Given the description of an element on the screen output the (x, y) to click on. 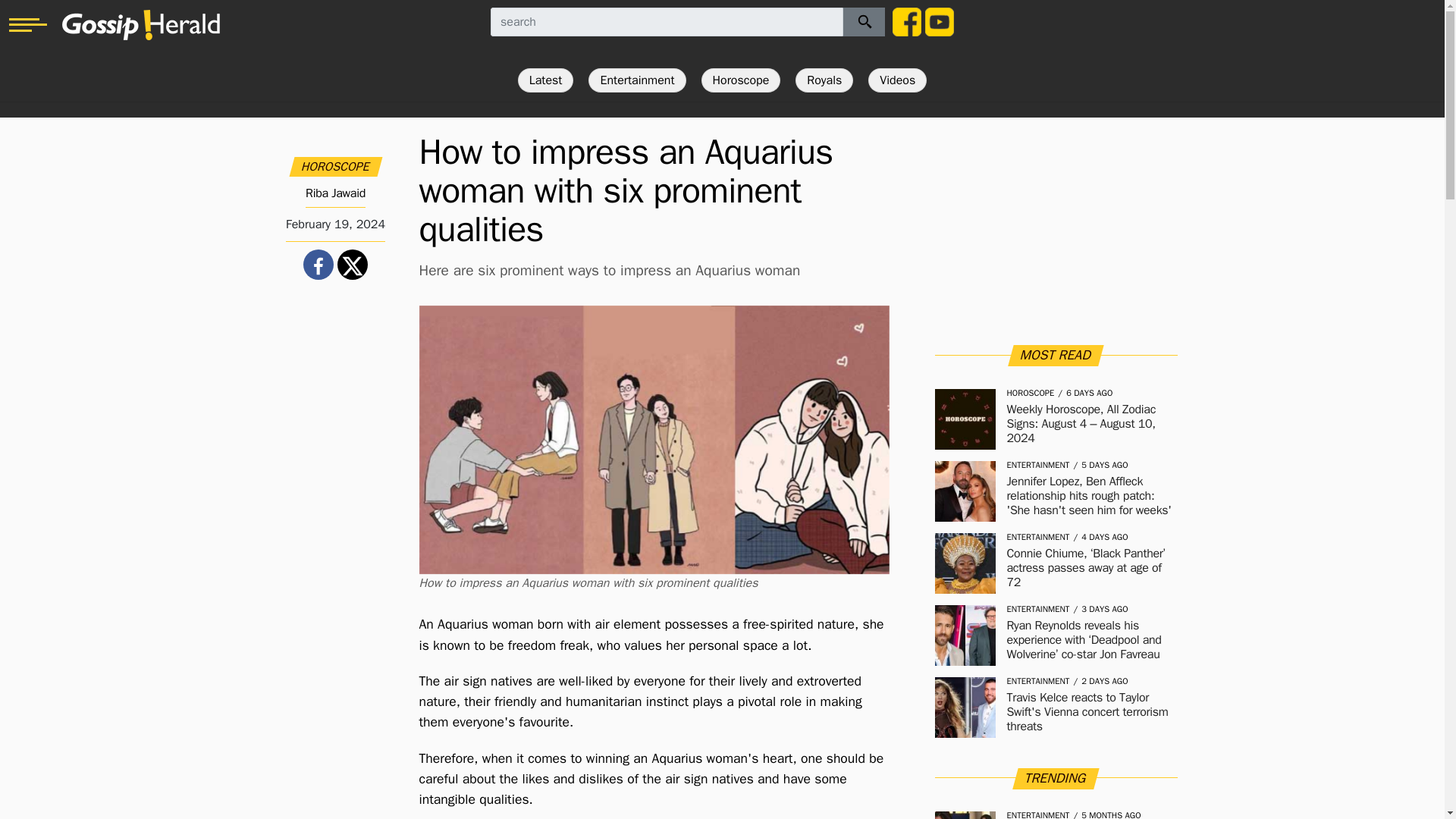
Horoscope (740, 79)
Gossip Herald (140, 24)
Royals (823, 79)
Latest News (545, 79)
Royals (823, 79)
Videos (896, 79)
Riba Jawaid (335, 192)
Entertainment (636, 79)
Gossip Herald (140, 23)
HOROSCOPE (336, 166)
